Given the description of an element on the screen output the (x, y) to click on. 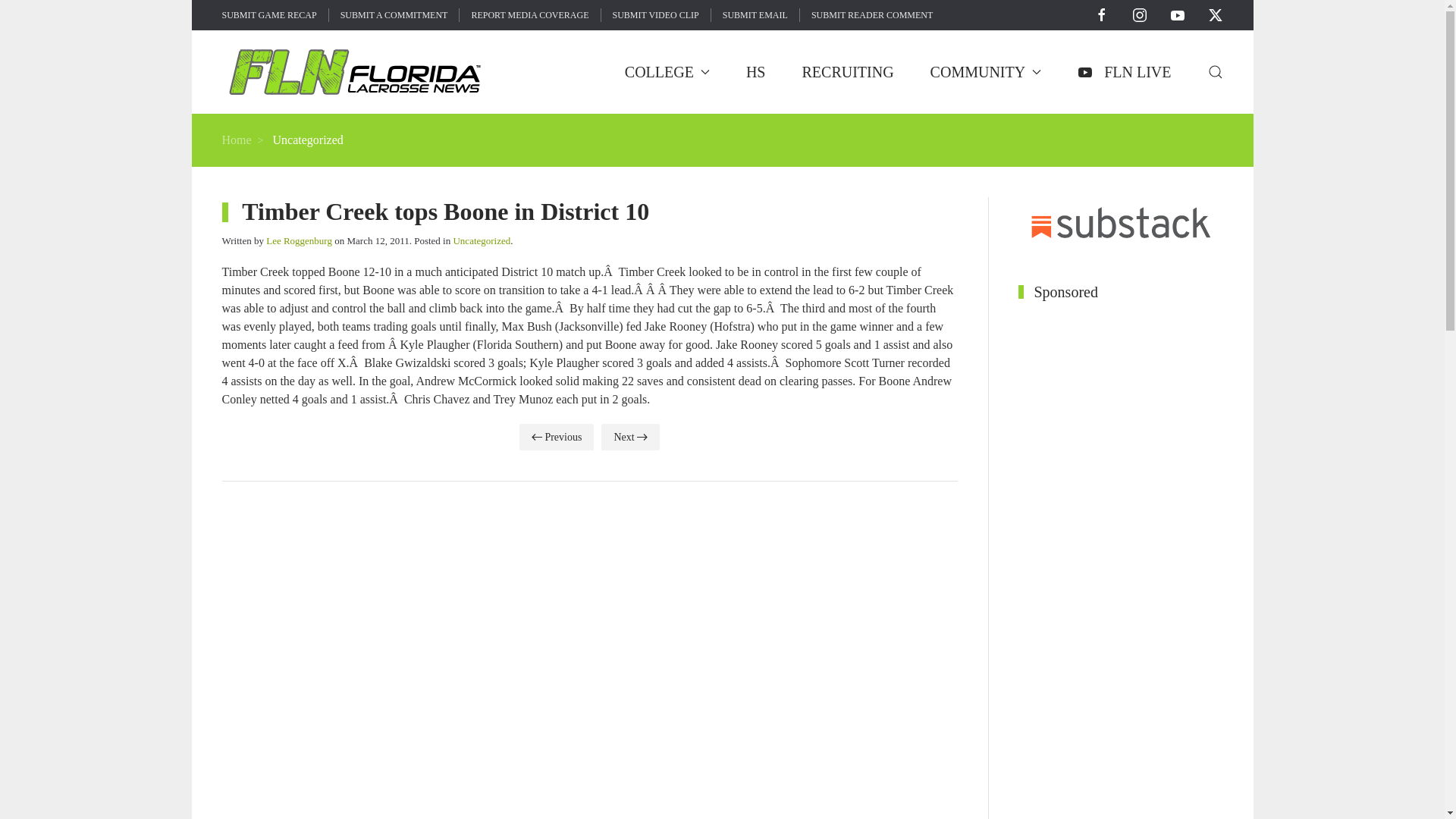
SUBMIT READER COMMENT (871, 15)
COMMUNITY (986, 71)
FLN Livestream (1123, 71)
SUBMIT EMAIL (754, 15)
FLN LIVE (1123, 71)
SUBMIT VIDEO CLIP (655, 15)
COLLEGE (667, 71)
SUBMIT GAME RECAP (268, 15)
RECRUITING (847, 71)
REPORT MEDIA COVERAGE (529, 15)
